Given the description of an element on the screen output the (x, y) to click on. 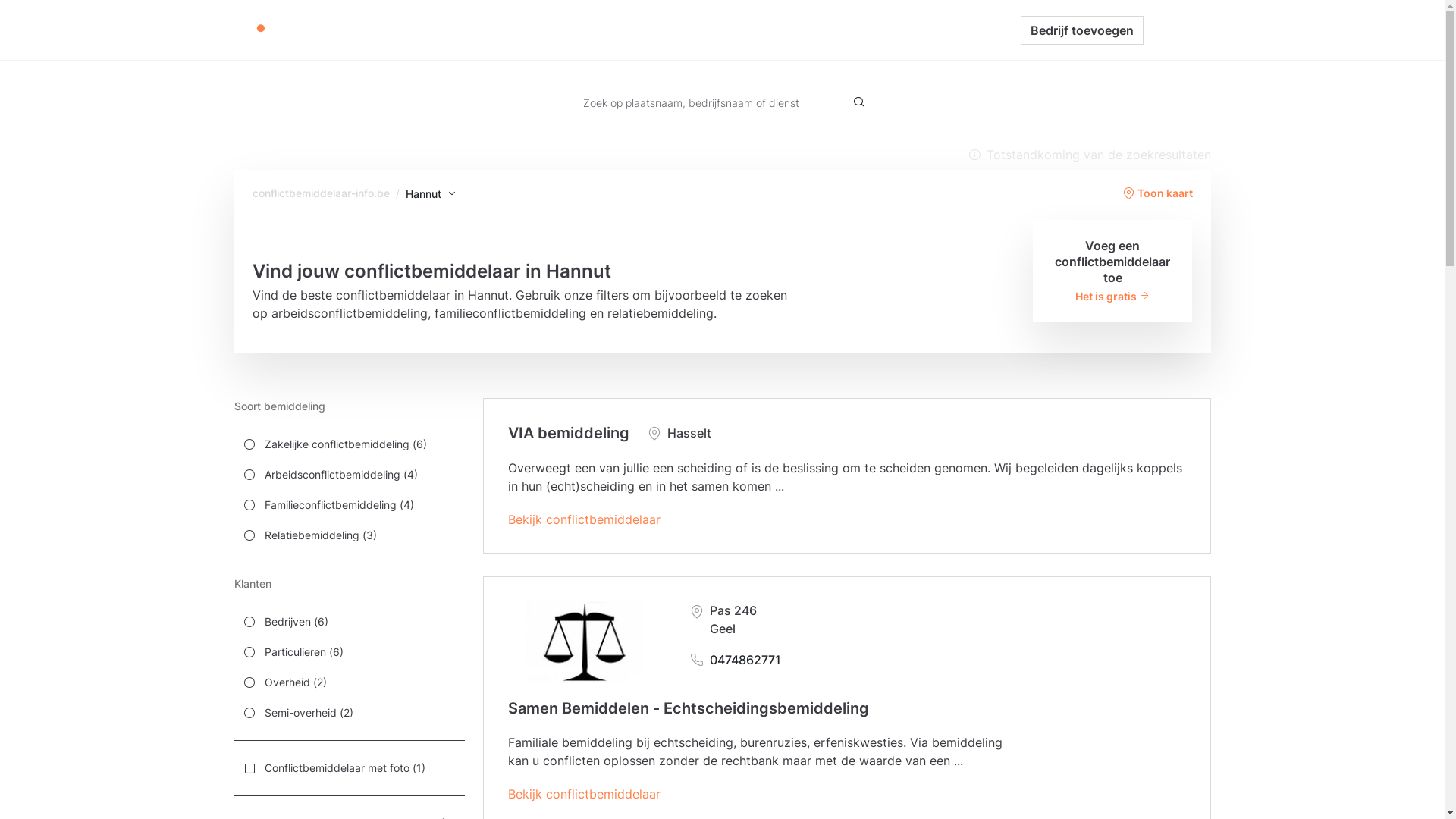
Samen Bemiddelen - Echtscheidingsbemiddeling Element type: text (688, 708)
Bedrijf toevoegen Element type: text (1081, 29)
Overheid (2) Element type: text (348, 682)
Particulieren (6) Element type: text (348, 652)
Hannut Element type: text (430, 193)
VIA bemiddeling Element type: text (568, 432)
Het is gratis Element type: text (1112, 296)
Conflictbemiddelaar zoeken Element type: text (712, 29)
Zakelijke conflictbemiddeling (6) Element type: text (348, 444)
Semi-overheid (2) Element type: text (348, 712)
Familieconflictbemiddeling (4) Element type: text (348, 504)
0474862771 Element type: text (735, 659)
Bedrijven (6) Element type: text (348, 621)
Relatiebemiddeling (3) Element type: text (348, 535)
Totstandkoming van de zoekresultaten Element type: text (1088, 154)
Bekijk conflictbemiddelaar Element type: text (584, 519)
Bekijk conflictbemiddelaar Element type: text (584, 793)
Conflictbemiddelaar met foto (1) Element type: text (348, 768)
Inloggen Element type: text (1177, 29)
conflictbemiddelaar-info.be Element type: text (320, 192)
Toon kaart Element type: text (1157, 192)
Arbeidsconflictbemiddeling (4) Element type: text (348, 474)
